Given the description of an element on the screen output the (x, y) to click on. 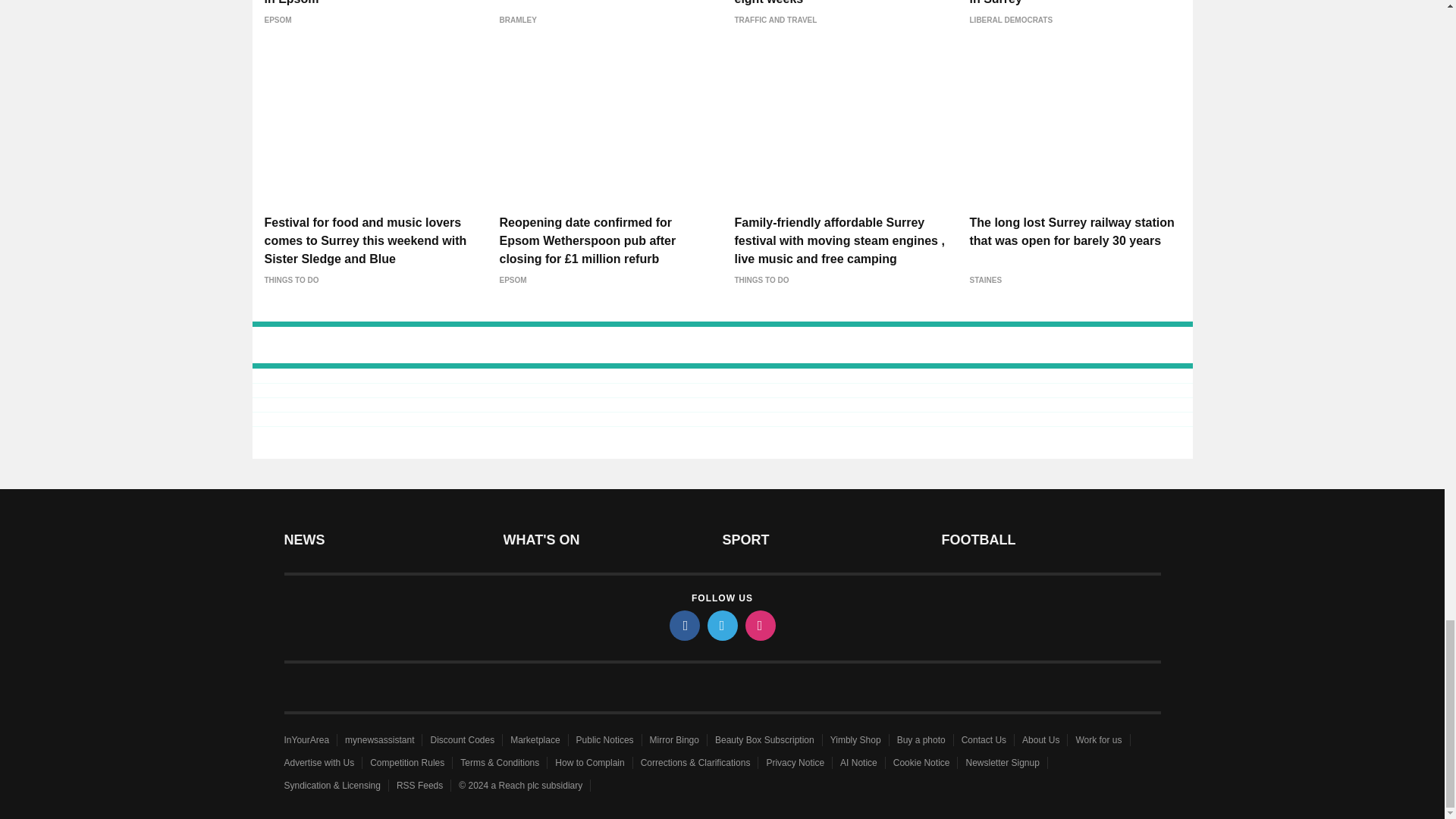
twitter (721, 625)
instagram (759, 625)
facebook (683, 625)
